Given the description of an element on the screen output the (x, y) to click on. 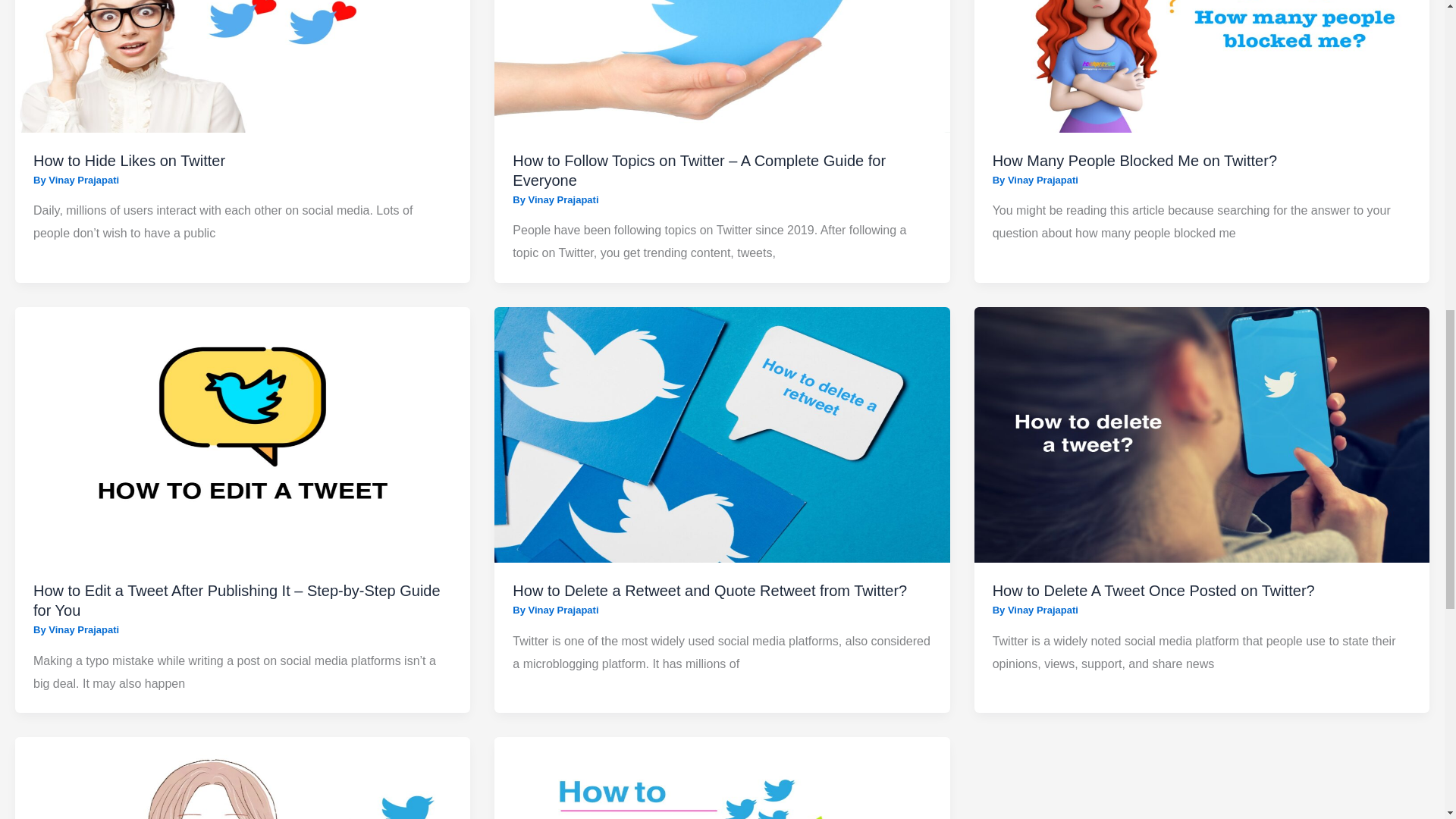
View all posts by Vinay Prajapati (1042, 179)
View all posts by Vinay Prajapati (83, 179)
View all posts by Vinay Prajapati (83, 629)
View all posts by Vinay Prajapati (1042, 609)
View all posts by Vinay Prajapati (563, 199)
View all posts by Vinay Prajapati (563, 609)
